Given the description of an element on the screen output the (x, y) to click on. 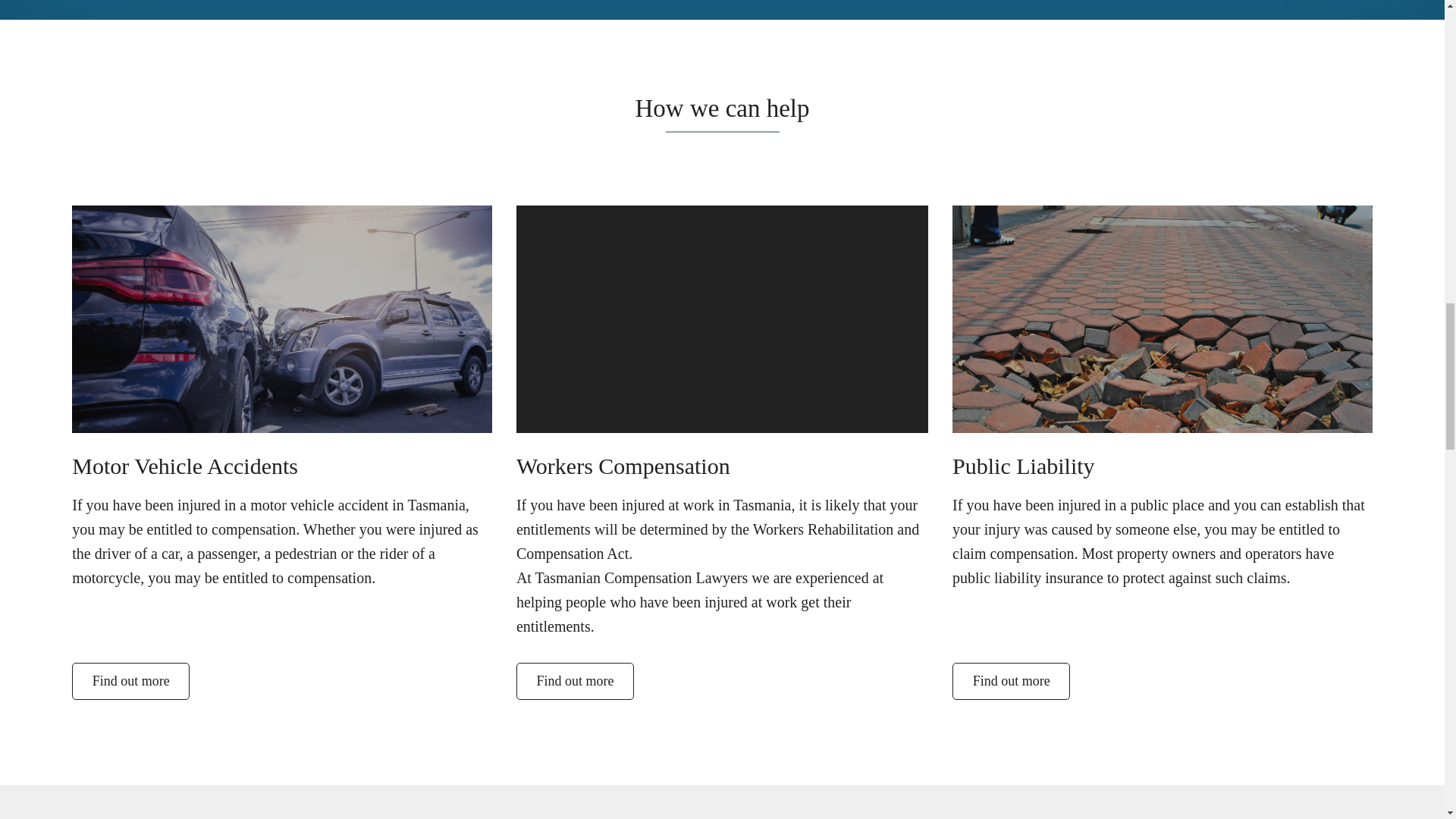
Find out more (574, 681)
Find out more (130, 681)
Find out more (1011, 681)
